Given the description of an element on the screen output the (x, y) to click on. 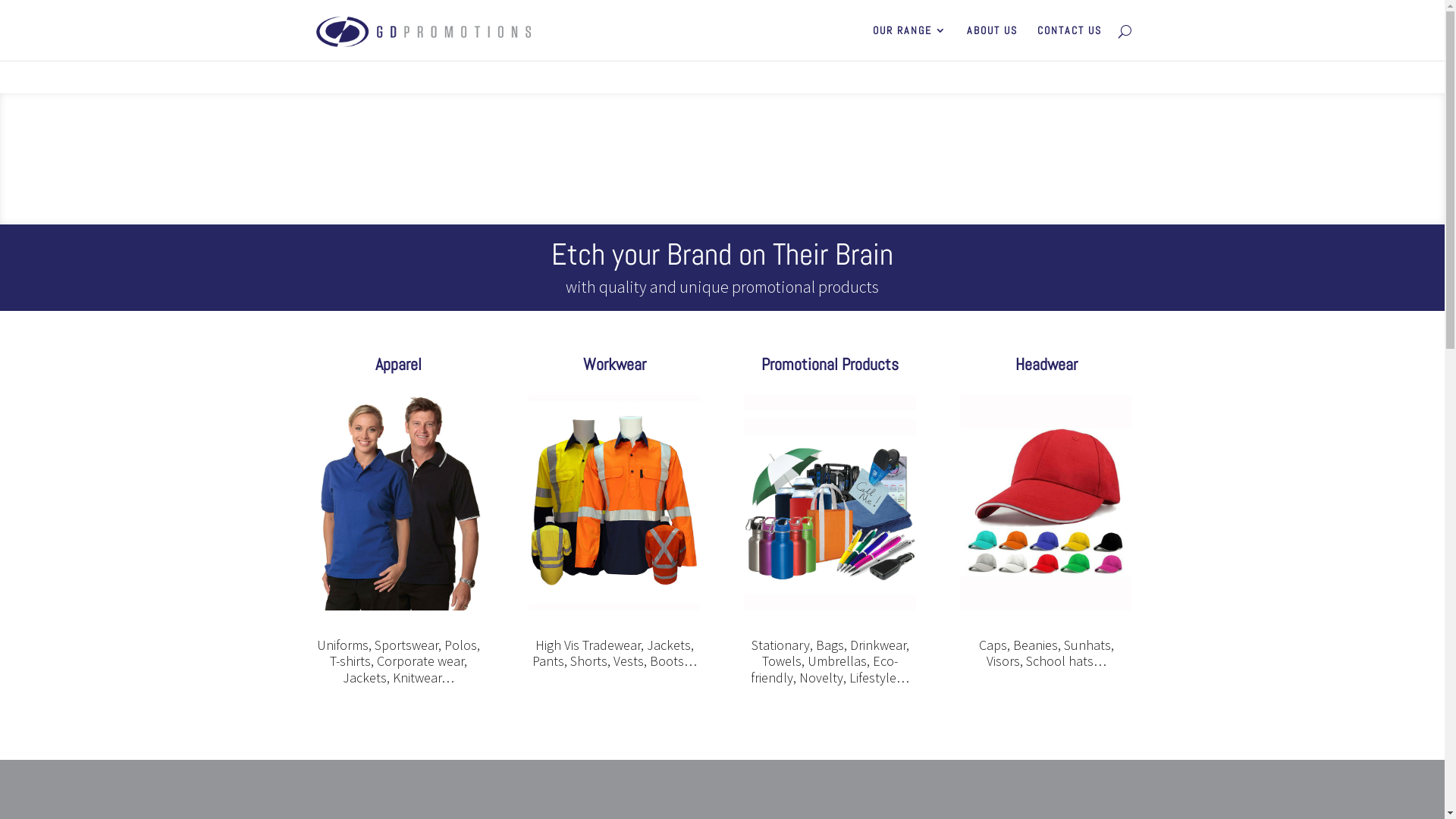
Promotional Products Element type: text (829, 363)
OUR RANGE Element type: text (909, 42)
Workwear Element type: text (614, 363)
Headwear Element type: text (1046, 363)
CONTACT US Element type: text (1069, 42)
ABOUT US Element type: text (991, 42)
Apparel Element type: text (398, 363)
